Given the description of an element on the screen output the (x, y) to click on. 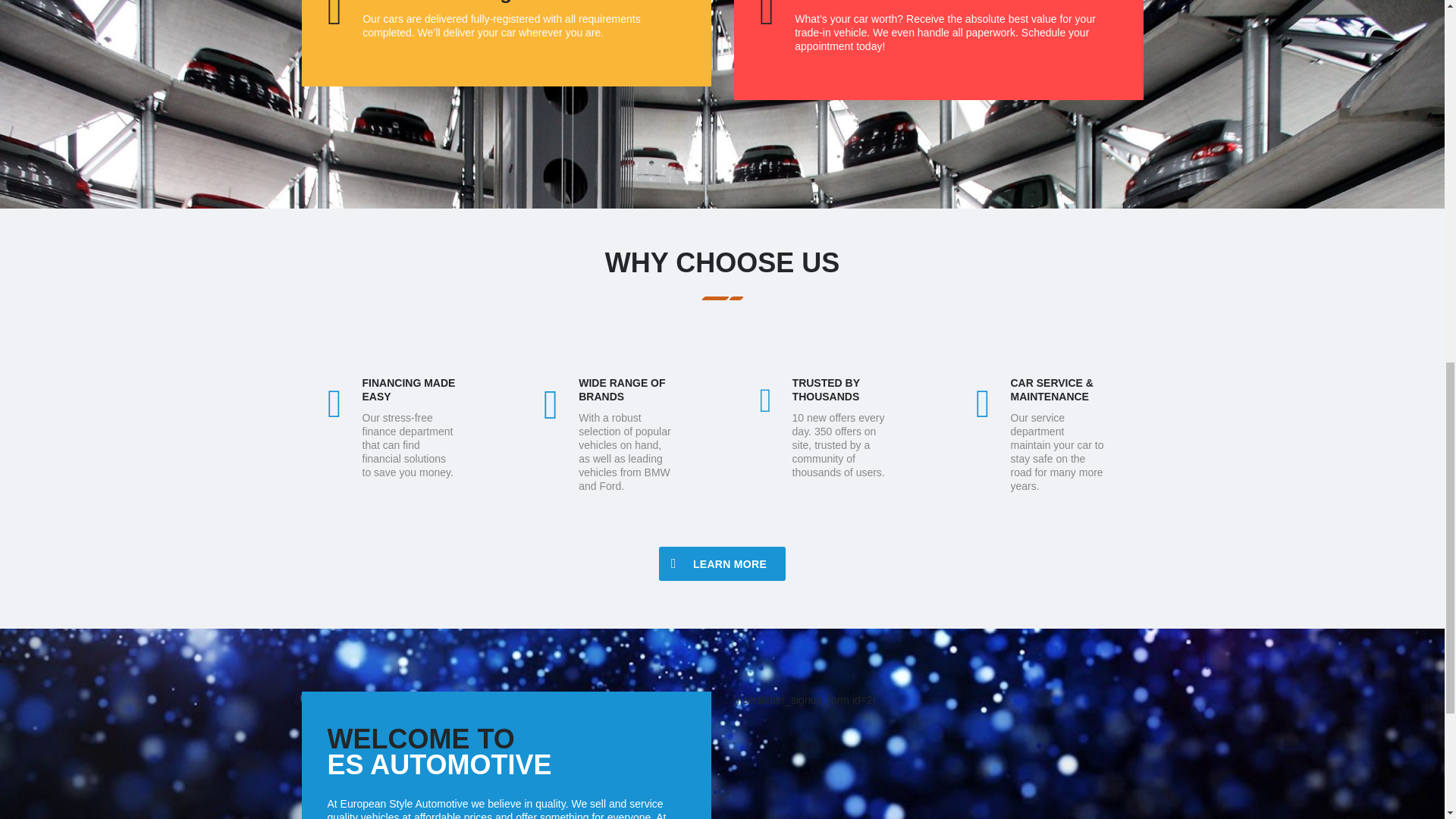
LEARN MORE (722, 563)
Learn More (722, 563)
